Given the description of an element on the screen output the (x, y) to click on. 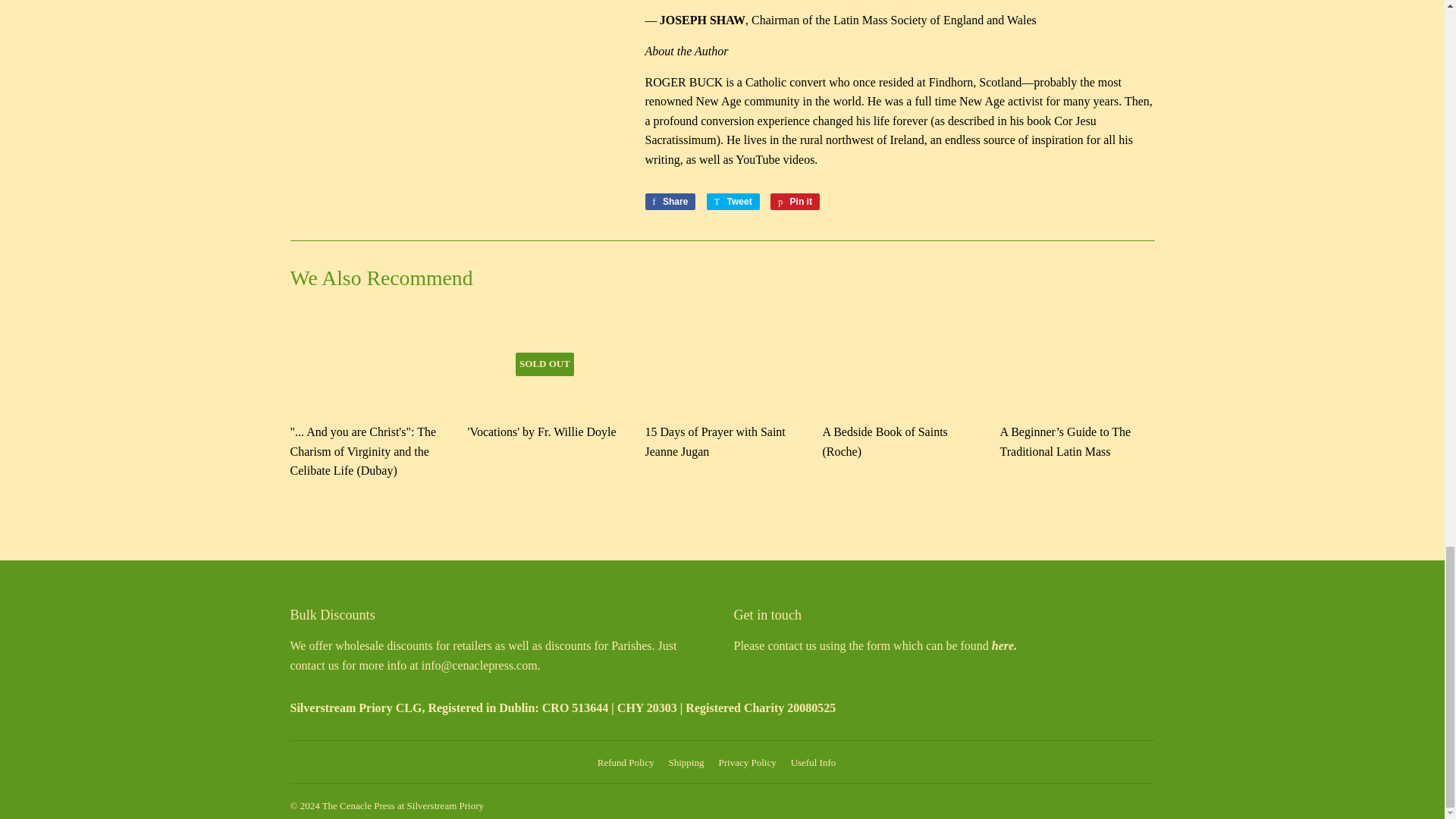
Pin on Pinterest (794, 201)
Share on Facebook (670, 201)
Tweet on Twitter (733, 201)
